Given the description of an element on the screen output the (x, y) to click on. 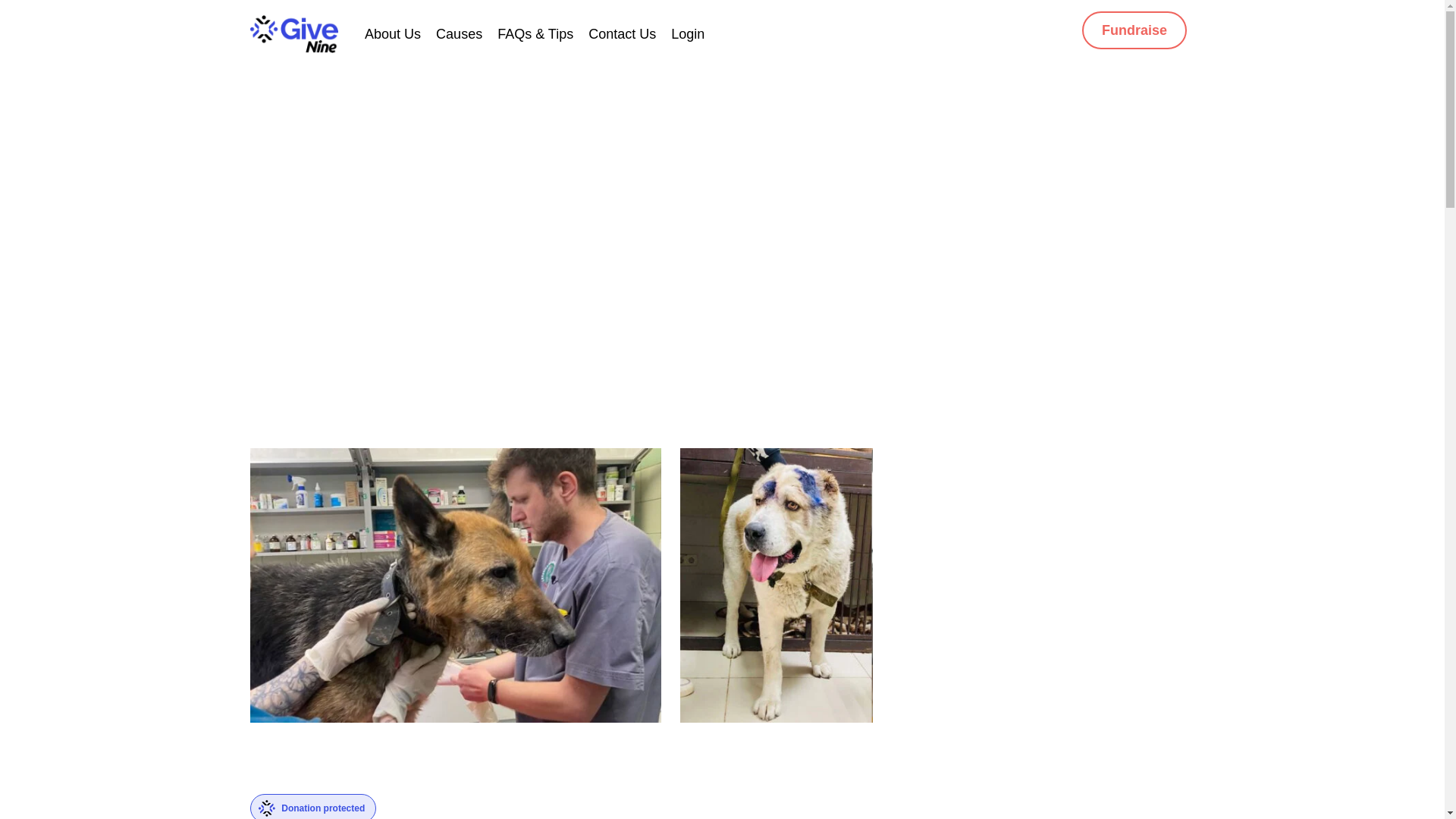
Donation protected (312, 806)
Fundraise (1133, 30)
About Us (392, 33)
Login (687, 33)
Contact Us (622, 33)
220311130100-animals-pets-rescued-ukraine (455, 584)
Causes (458, 33)
